Given the description of an element on the screen output the (x, y) to click on. 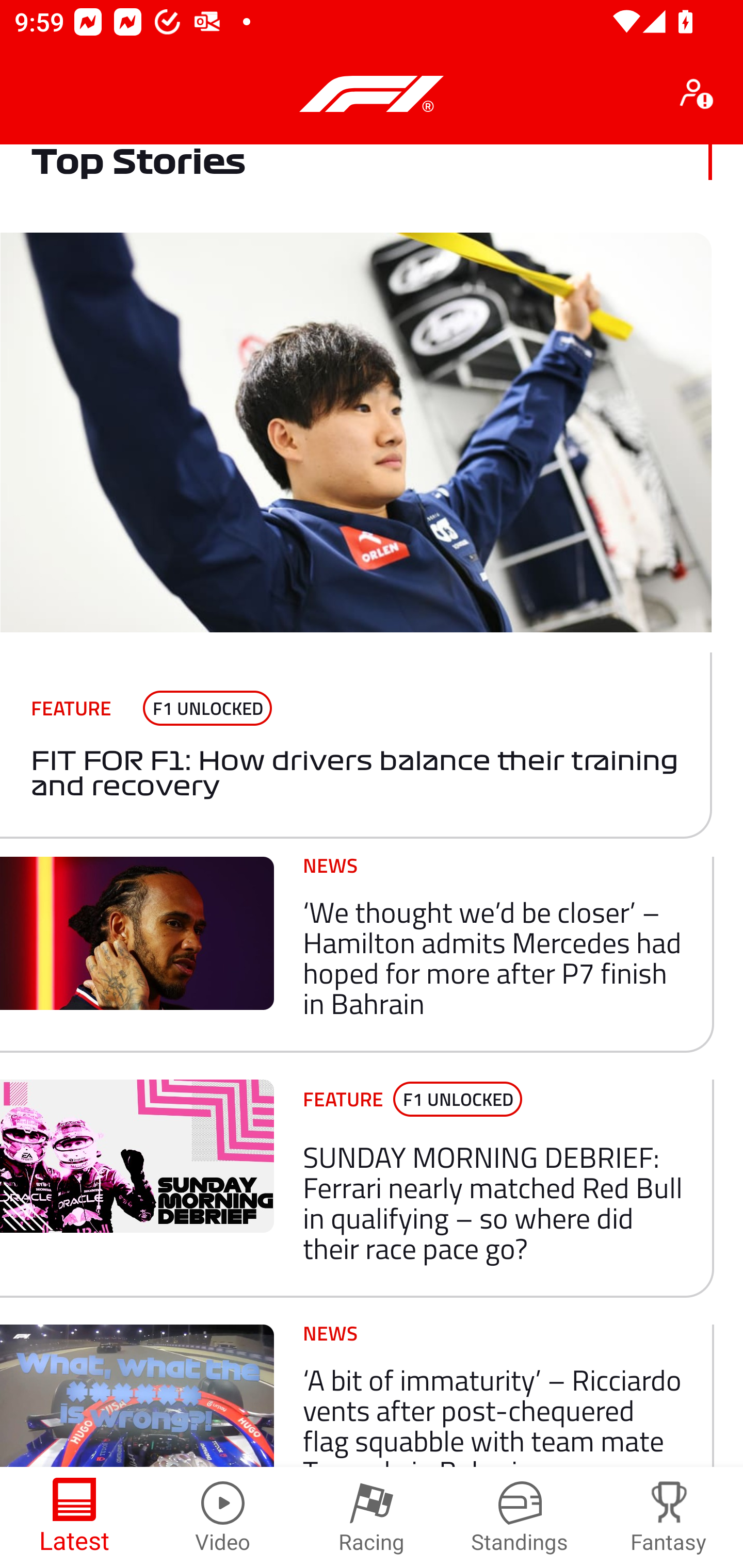
Video (222, 1517)
Racing (371, 1517)
Standings (519, 1517)
Fantasy (668, 1517)
